Given the description of an element on the screen output the (x, y) to click on. 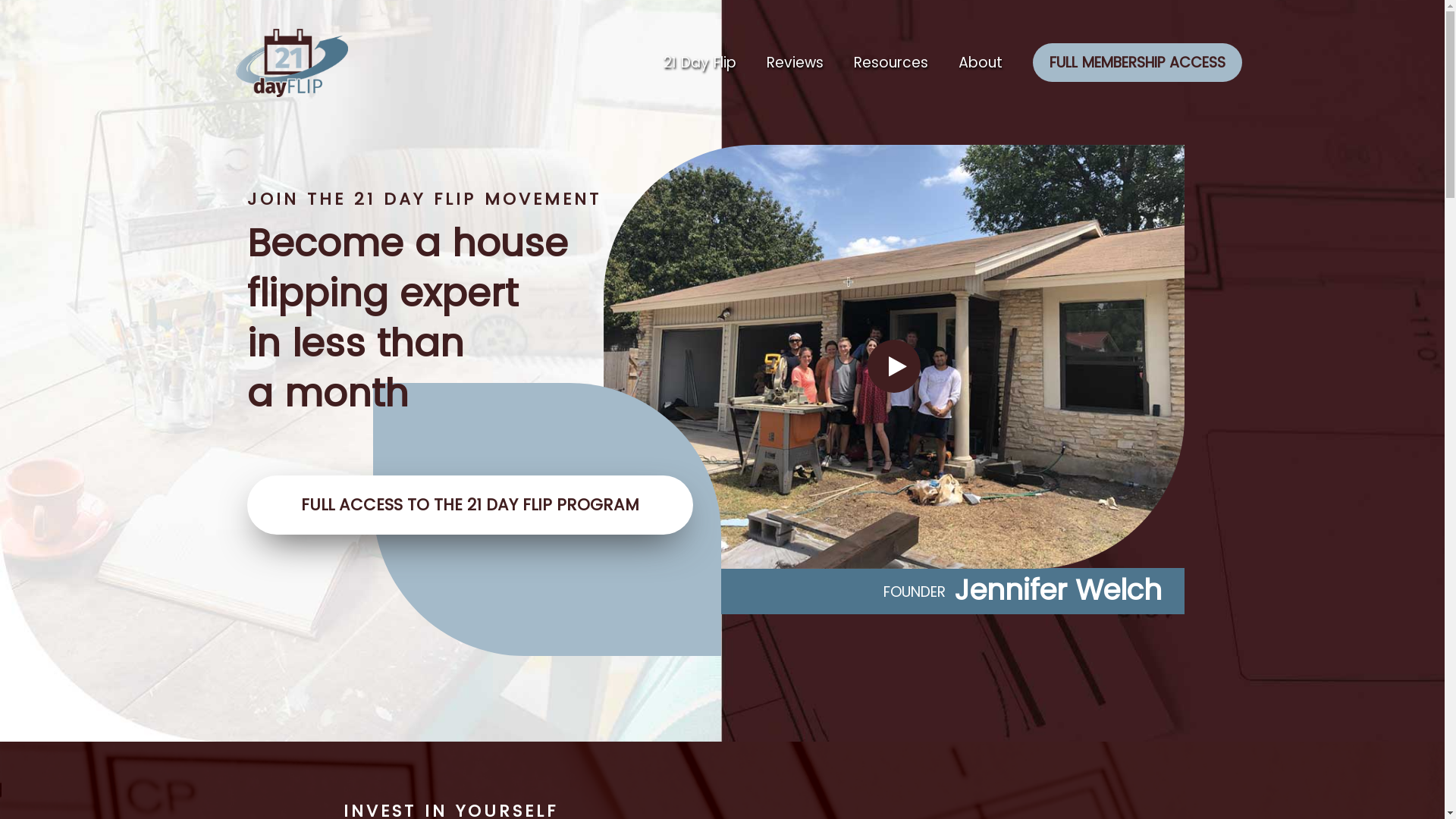
21 Day Flip Element type: text (698, 62)
Reviews Element type: text (793, 62)
About Element type: text (980, 62)
Resources Element type: text (890, 62)
FULL ACCESS TO THE 21 DAY FLIP PROGRAM Element type: text (470, 503)
FULL MEMBERSHIP ACCESS Element type: text (1129, 62)
